Given the description of an element on the screen output the (x, y) to click on. 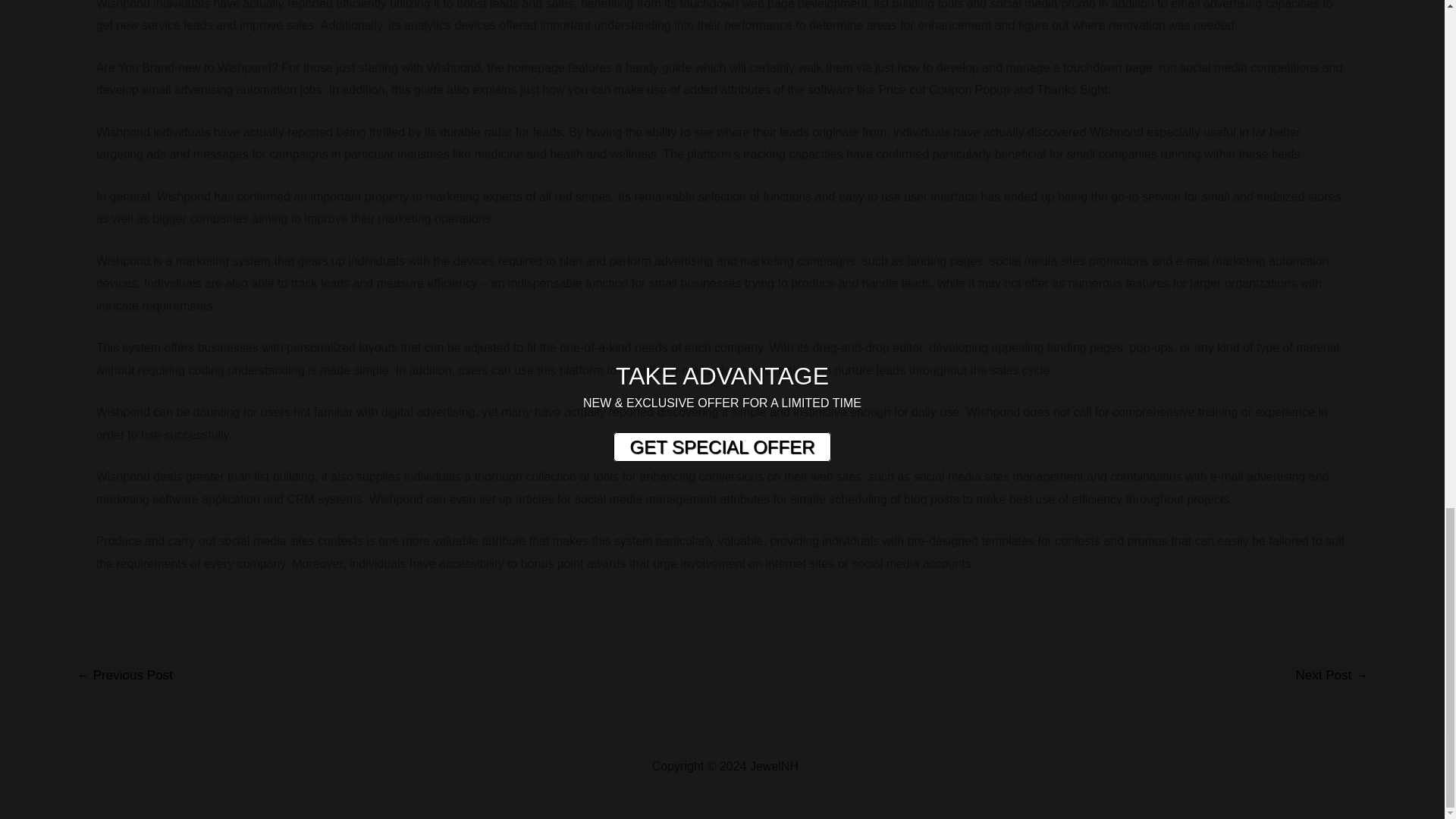
Sitemap (823, 766)
